Given the description of an element on the screen output the (x, y) to click on. 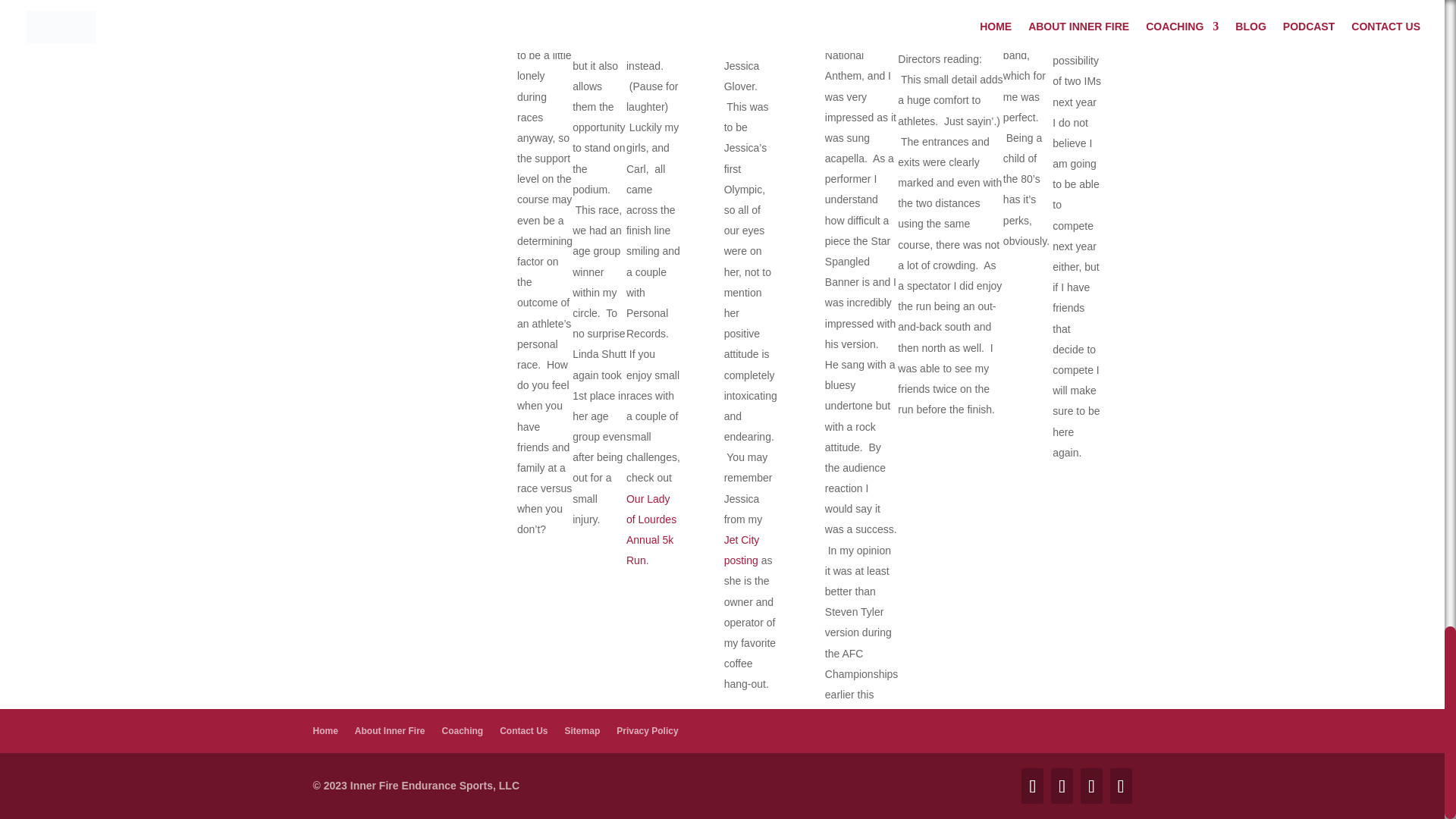
Jet City posting (741, 549)
